Given the description of an element on the screen output the (x, y) to click on. 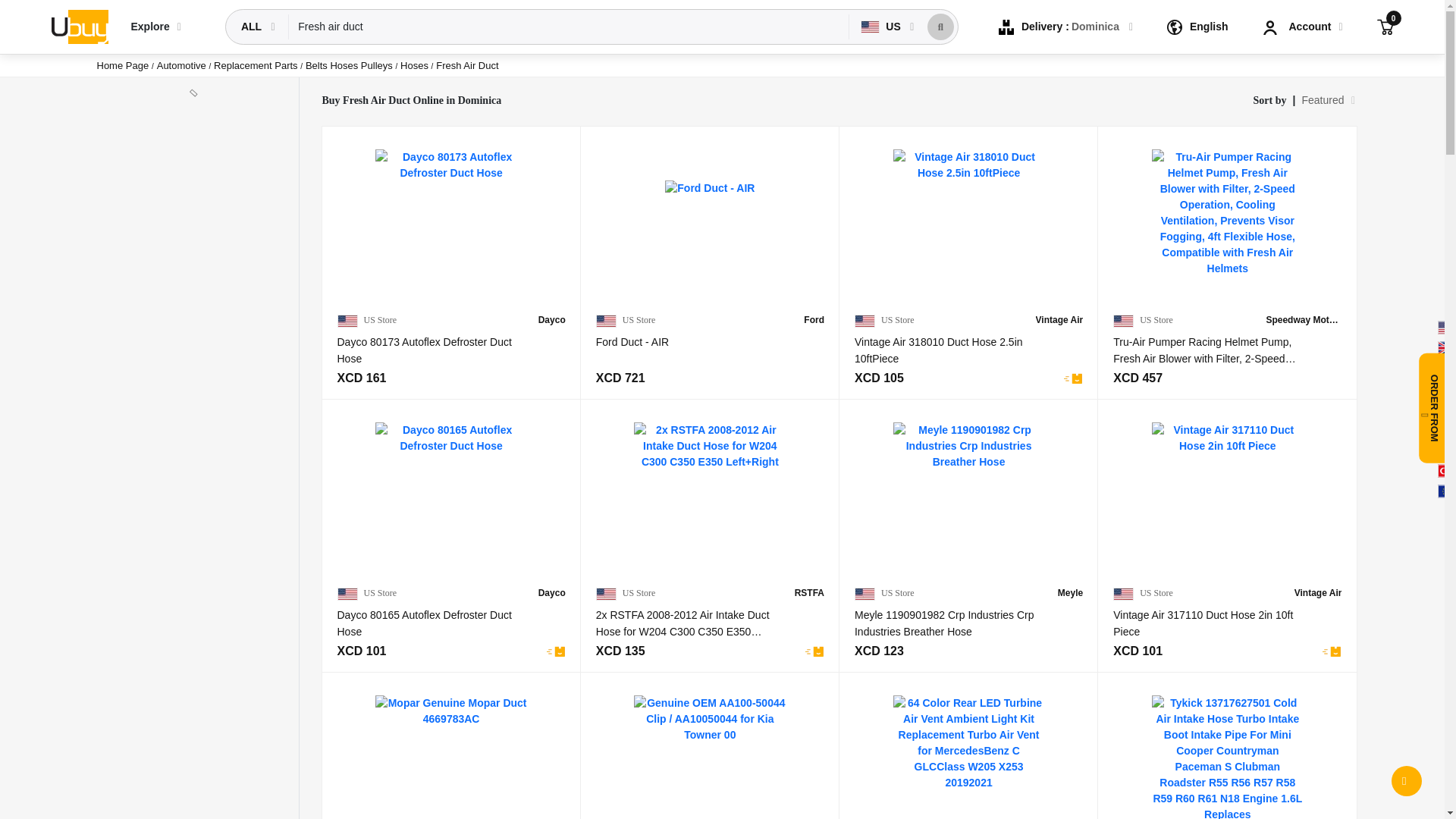
0 (1385, 26)
Ubuy (78, 26)
Fresh air duct (568, 26)
US (881, 26)
ALL (253, 26)
